Given the description of an element on the screen output the (x, y) to click on. 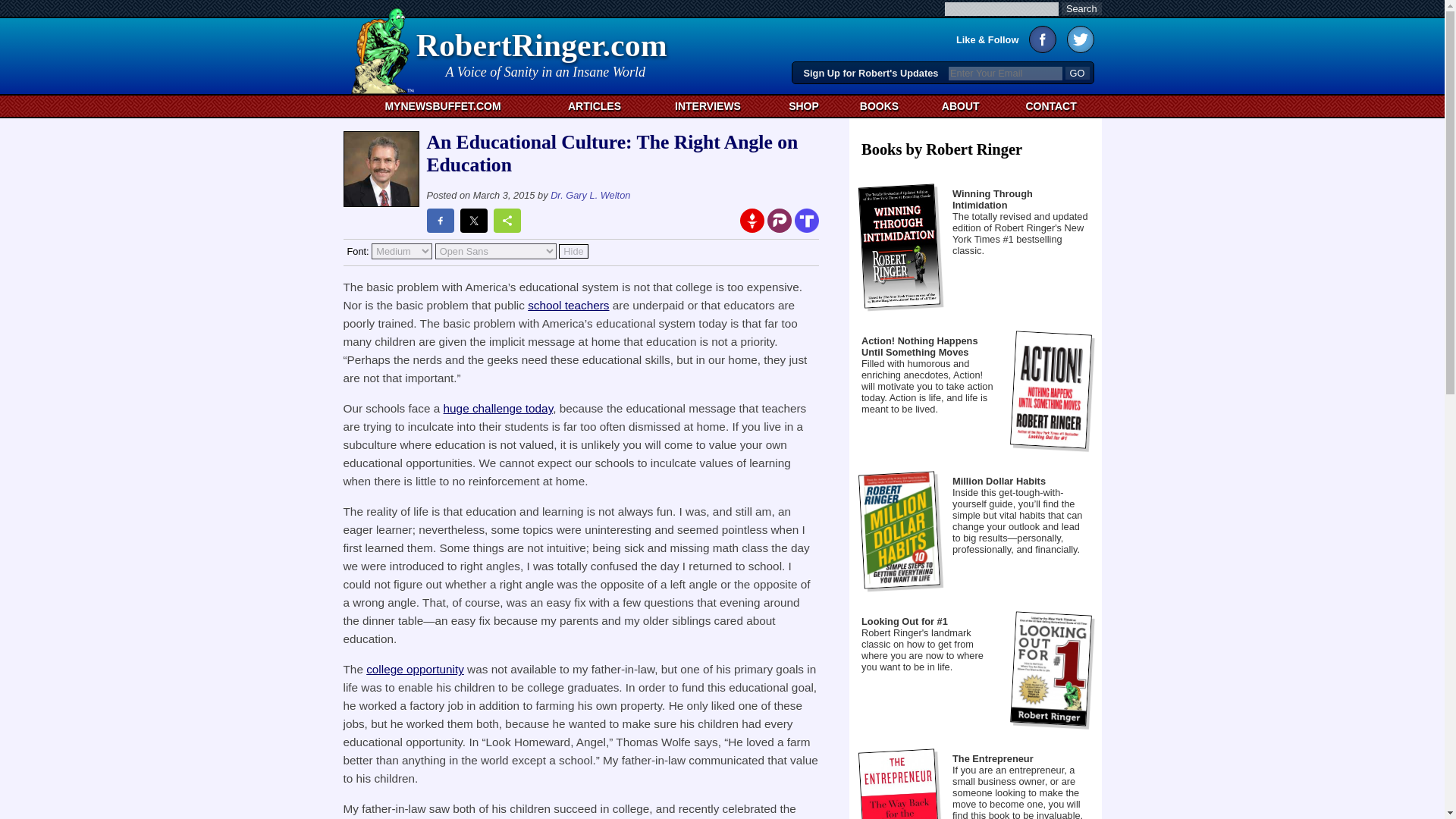
Share on Gettr (751, 220)
BOOKS (879, 106)
MYNEWSBUFFET.COM (441, 106)
Dr. Gary L. Welton (590, 194)
Twitter (1079, 39)
huge challenge today (498, 408)
INTERVIEWS (707, 106)
college opportunity (415, 668)
CONTACT (543, 51)
RobertRinger.com (1051, 106)
ARTICLES (543, 51)
Hide (594, 106)
An Educational Culture: The Right Angle on Education (573, 251)
